Given the description of an element on the screen output the (x, y) to click on. 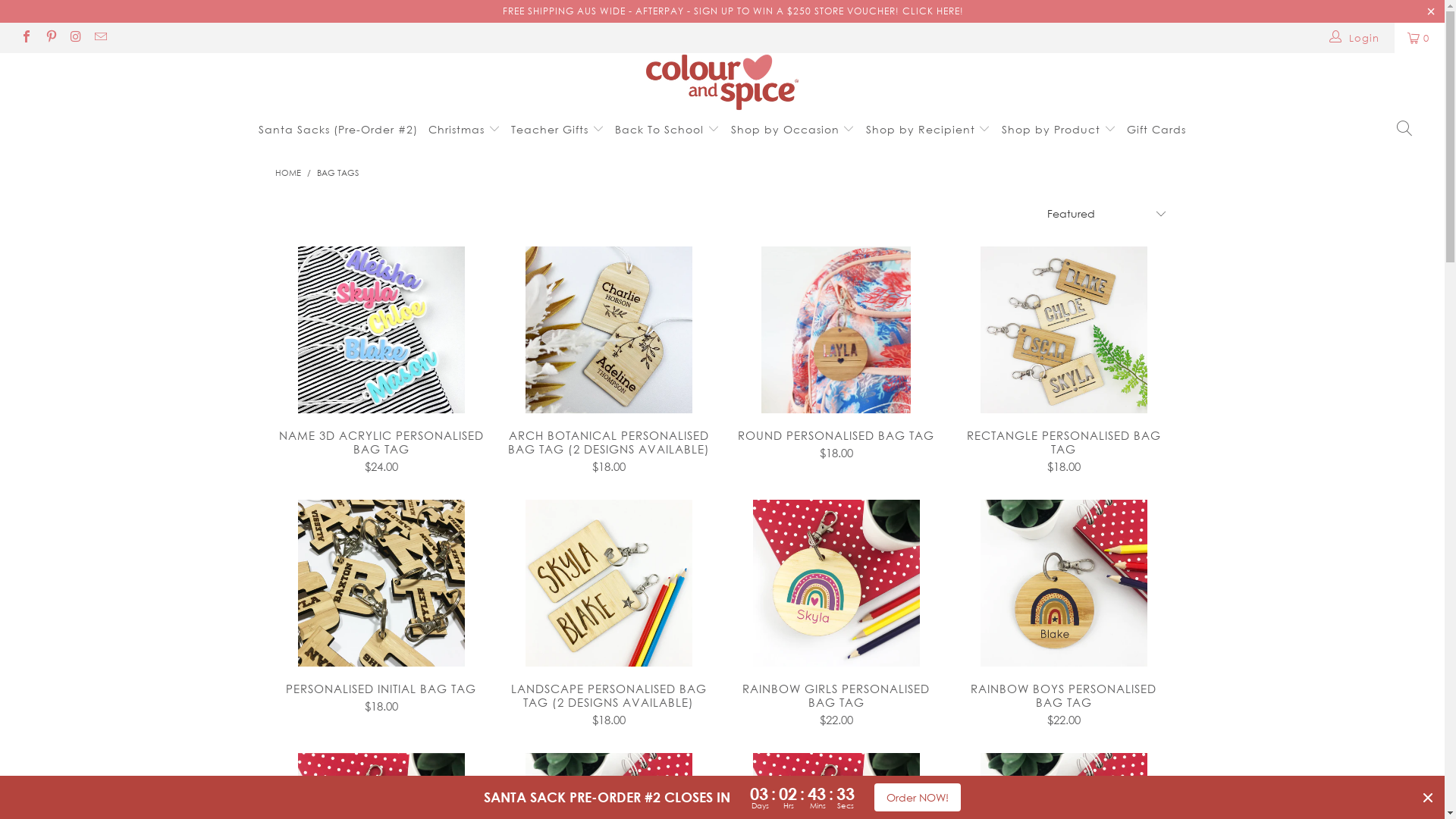
RAINBOW GIRLS PERSONALISED BAG TAG
$22.00 Element type: text (835, 702)
Search Element type: hover (1404, 128)
RAINBOW BOYS PERSONALISED BAG TAG
$22.00 Element type: text (1063, 702)
Christmas Element type: text (464, 128)
NAME 3D ACRYLIC PERSONALISED BAG TAG
$24.00 Element type: text (380, 449)
BAG TAGS Element type: text (337, 171)
Email Colour and Spice Pty Ltd Element type: hover (99, 37)
Order NOW! Element type: text (917, 797)
Santa Sacks (Pre-Order #2) Element type: text (337, 128)
0 Element type: text (1419, 37)
LANDSCAPE PERSONALISED BAG TAG (2 DESIGNS AVAILABLE)
$18.00 Element type: text (608, 702)
HOME Element type: text (287, 171)
Colour and Spice Pty Ltd on Facebook Element type: hover (25, 37)
PERSONALISED INITIAL BAG TAG
$18.00 Element type: text (380, 696)
Shop by Occasion Element type: text (793, 128)
Shop by Recipient Element type: text (928, 128)
Colour and Spice Pty Ltd on Pinterest Element type: hover (49, 37)
ROUND PERSONALISED BAG TAG
$18.00 Element type: text (835, 442)
Teacher Gifts Element type: text (557, 128)
Colour and Spice Pty Ltd on Instagram Element type: hover (74, 37)
Gift Cards Element type: text (1156, 128)
Back To School Element type: text (667, 128)
Colour and Spice Pty Ltd Element type: hover (722, 82)
Login Element type: text (1354, 37)
Shop by Product Element type: text (1058, 128)
RECTANGLE PERSONALISED BAG TAG
$18.00 Element type: text (1063, 449)
